Given the description of an element on the screen output the (x, y) to click on. 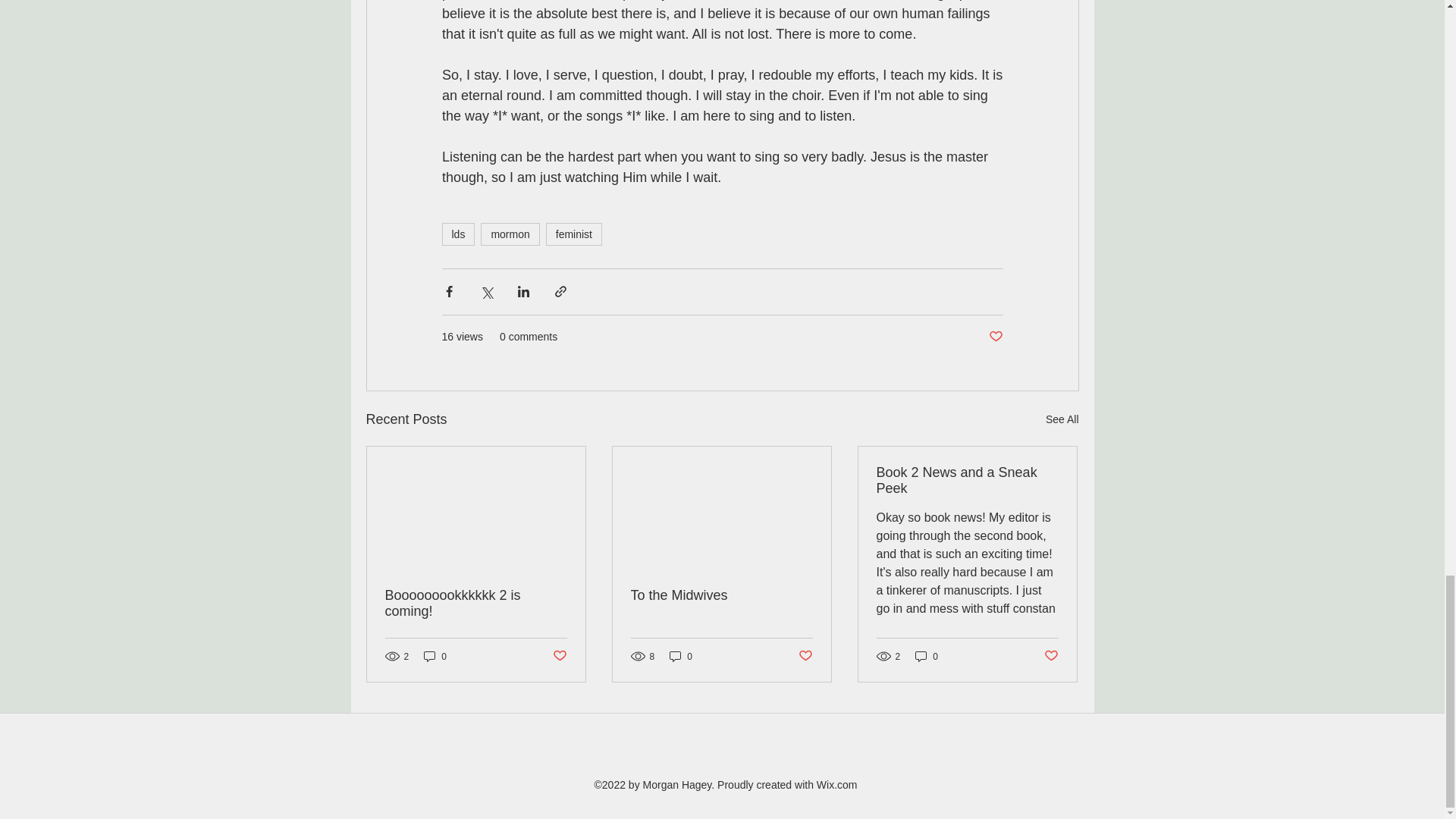
0 (926, 656)
Booooooookkkkkk 2 is coming! (476, 603)
mormon (509, 233)
lds (457, 233)
0 (435, 656)
Post not marked as liked (558, 656)
Post not marked as liked (1050, 656)
Post not marked as liked (995, 336)
See All (1061, 419)
feminist (574, 233)
Book 2 News and a Sneak Peek (967, 480)
To the Midwives (721, 595)
Post not marked as liked (804, 656)
0 (681, 656)
